Given the description of an element on the screen output the (x, y) to click on. 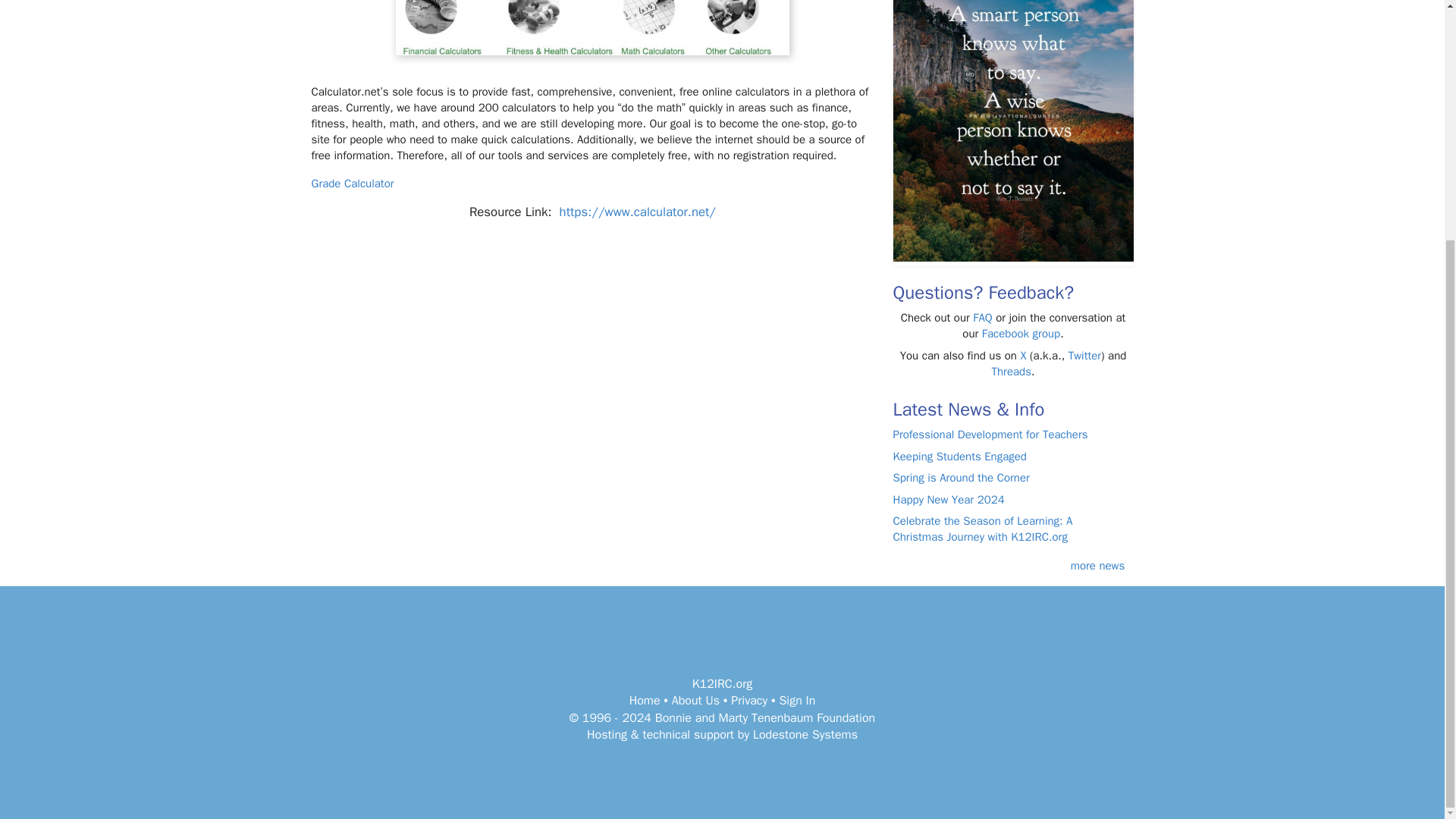
more news (1097, 565)
Sign In (796, 700)
Professional Development for Teachers (990, 434)
Happy New Year 2024 (948, 499)
Twitter (1084, 355)
Keeping Students Engaged (959, 456)
Lodestone Systems (804, 734)
Spring is Around the Corner (961, 477)
Grade Calculator (352, 183)
About Us (695, 700)
FAQ (981, 317)
Privacy (748, 700)
Facebook group (1020, 333)
Threads (1010, 371)
